Given the description of an element on the screen output the (x, y) to click on. 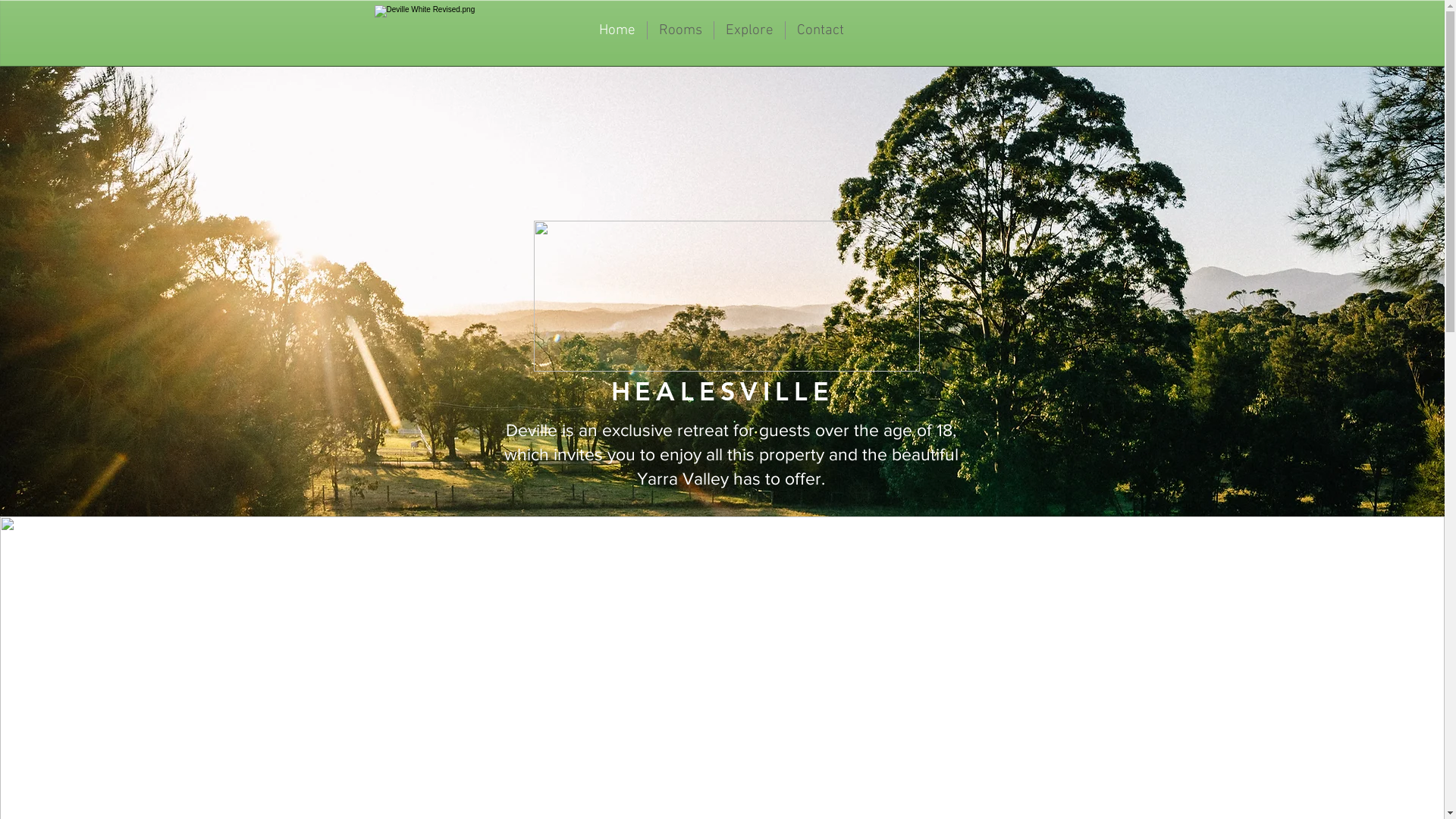
Explore Element type: text (749, 30)
Contact Element type: text (820, 30)
Deville White Revised.png Element type: hover (726, 295)
Rooms Element type: text (680, 30)
Home Element type: text (616, 30)
